Given the description of an element on the screen output the (x, y) to click on. 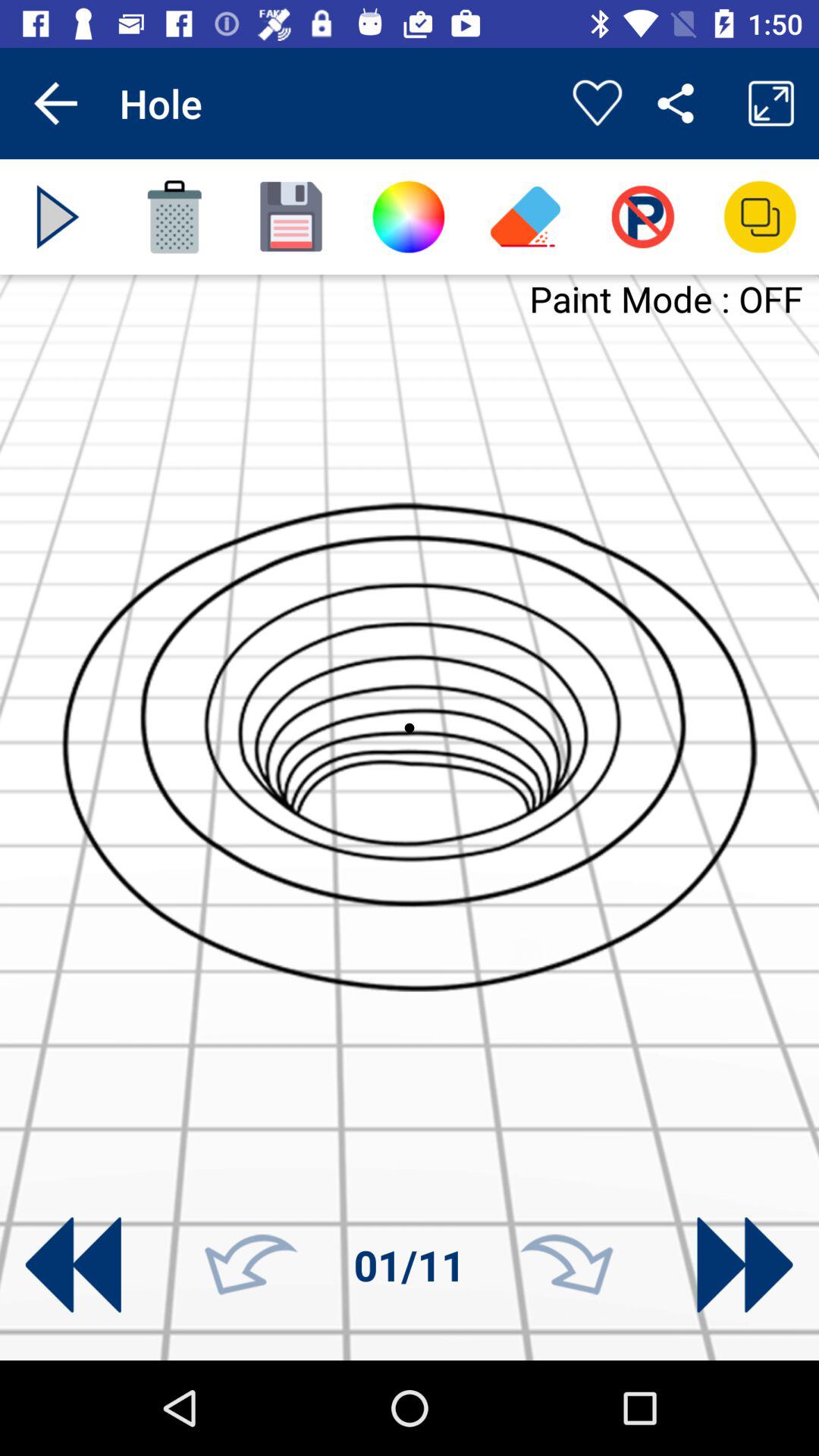
redo option (566, 1264)
